Given the description of an element on the screen output the (x, y) to click on. 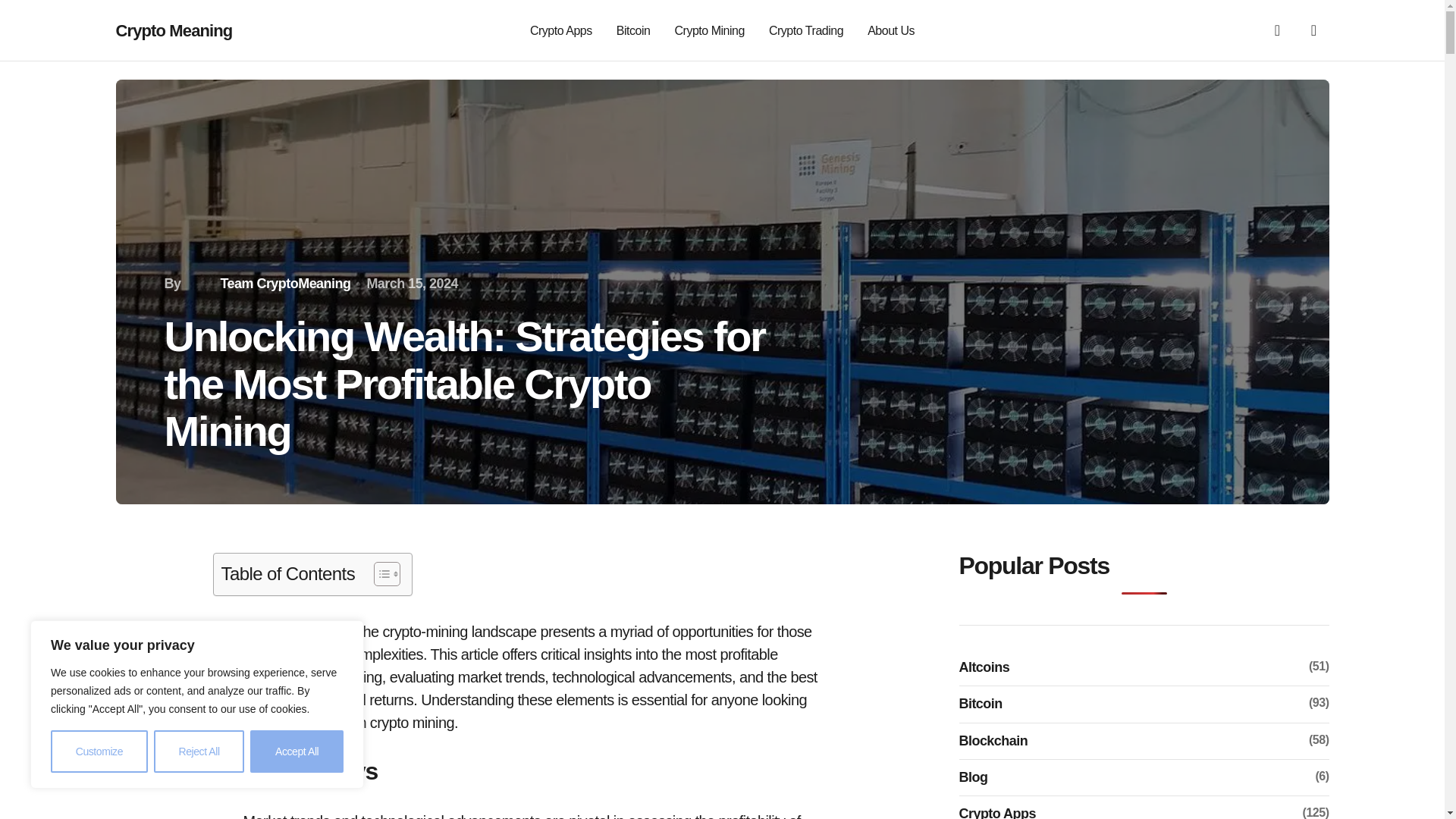
Customize (99, 751)
Accept All (296, 751)
Reject All (199, 751)
